Given the description of an element on the screen output the (x, y) to click on. 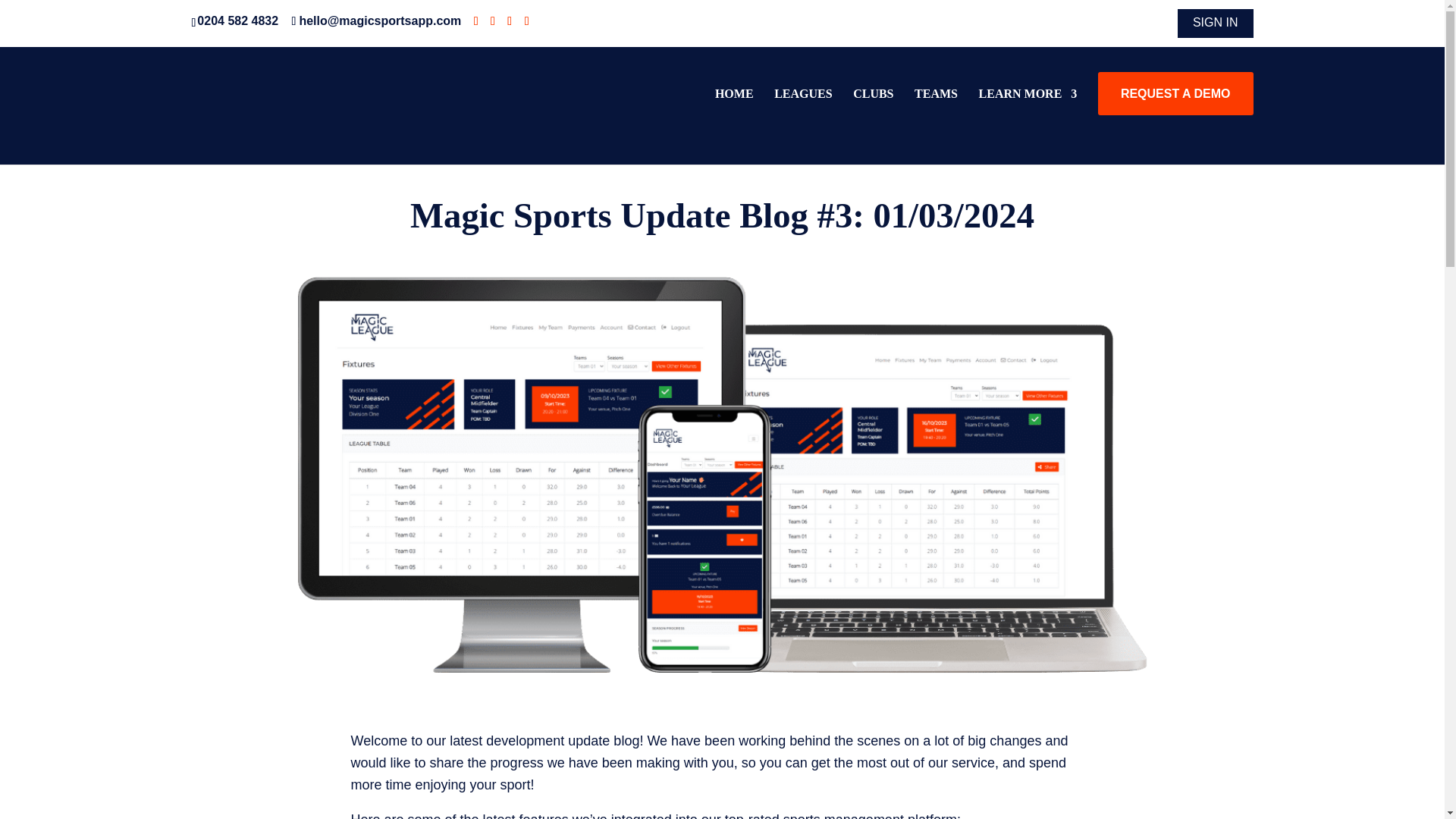
SIGN IN (1215, 26)
LEAGUES (802, 112)
LEARN MORE (1027, 112)
0204 582 4832 (239, 20)
REQUEST A DEMO (1175, 112)
